Given the description of an element on the screen output the (x, y) to click on. 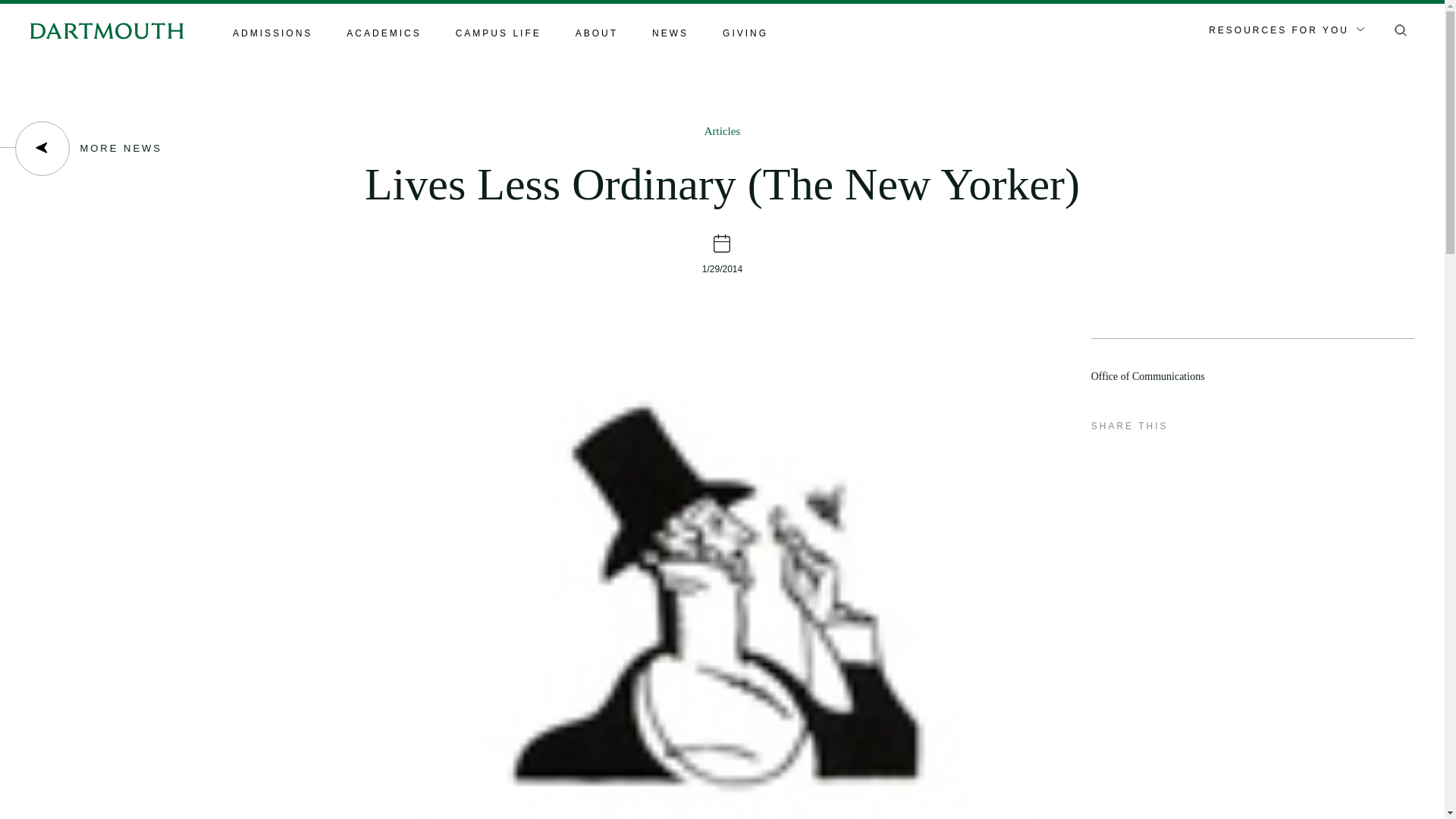
ADMISSIONS (272, 33)
Academics (383, 33)
Home (106, 29)
ACADEMICS (383, 33)
Home (106, 29)
CAMPUS LIFE (498, 33)
ABOUT (596, 33)
Admissions (272, 33)
